Given the description of an element on the screen output the (x, y) to click on. 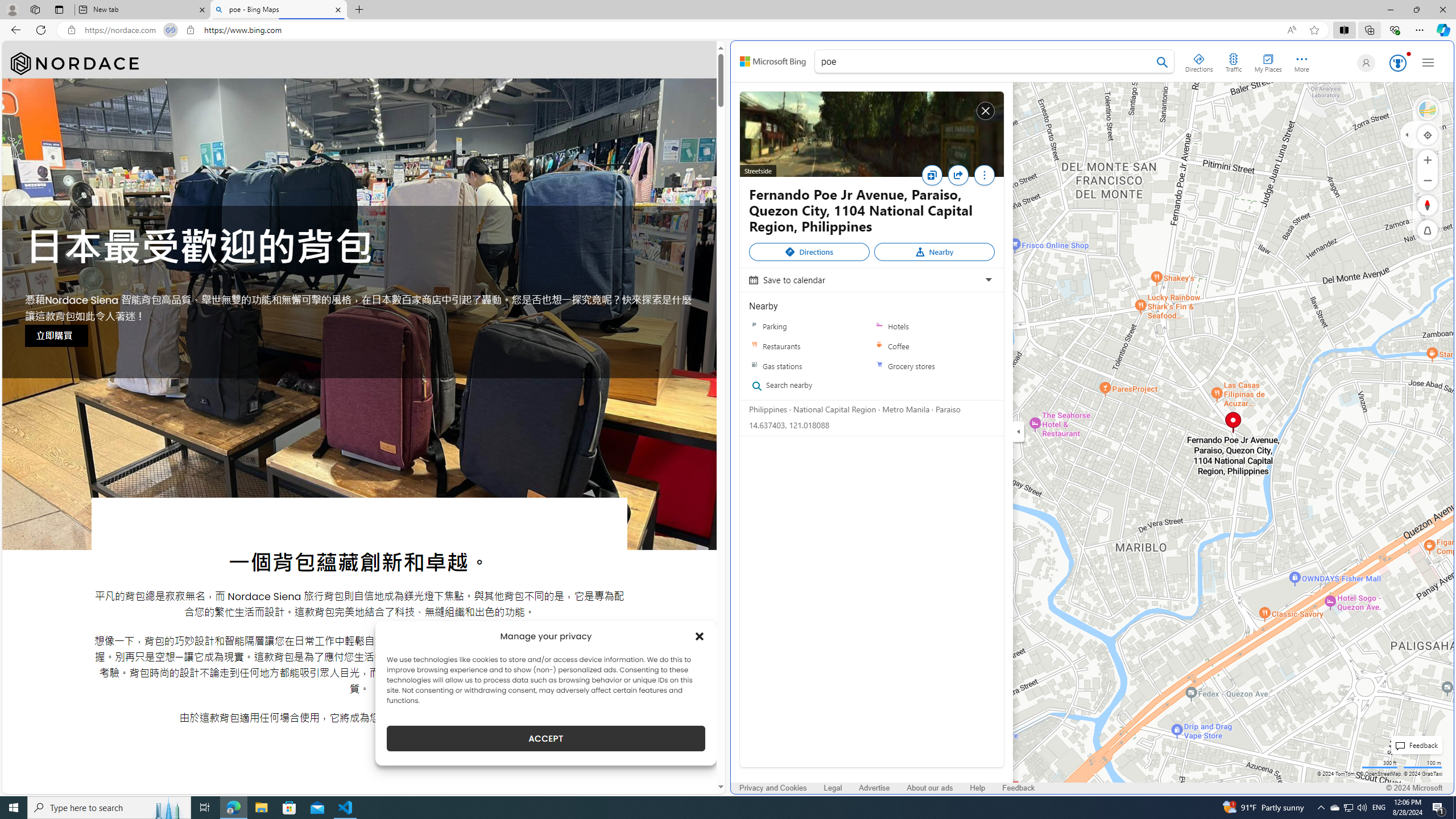
Hotels (879, 326)
Road (1427, 109)
Traffic (1232, 60)
Bird's eye (1427, 109)
